Given the description of an element on the screen output the (x, y) to click on. 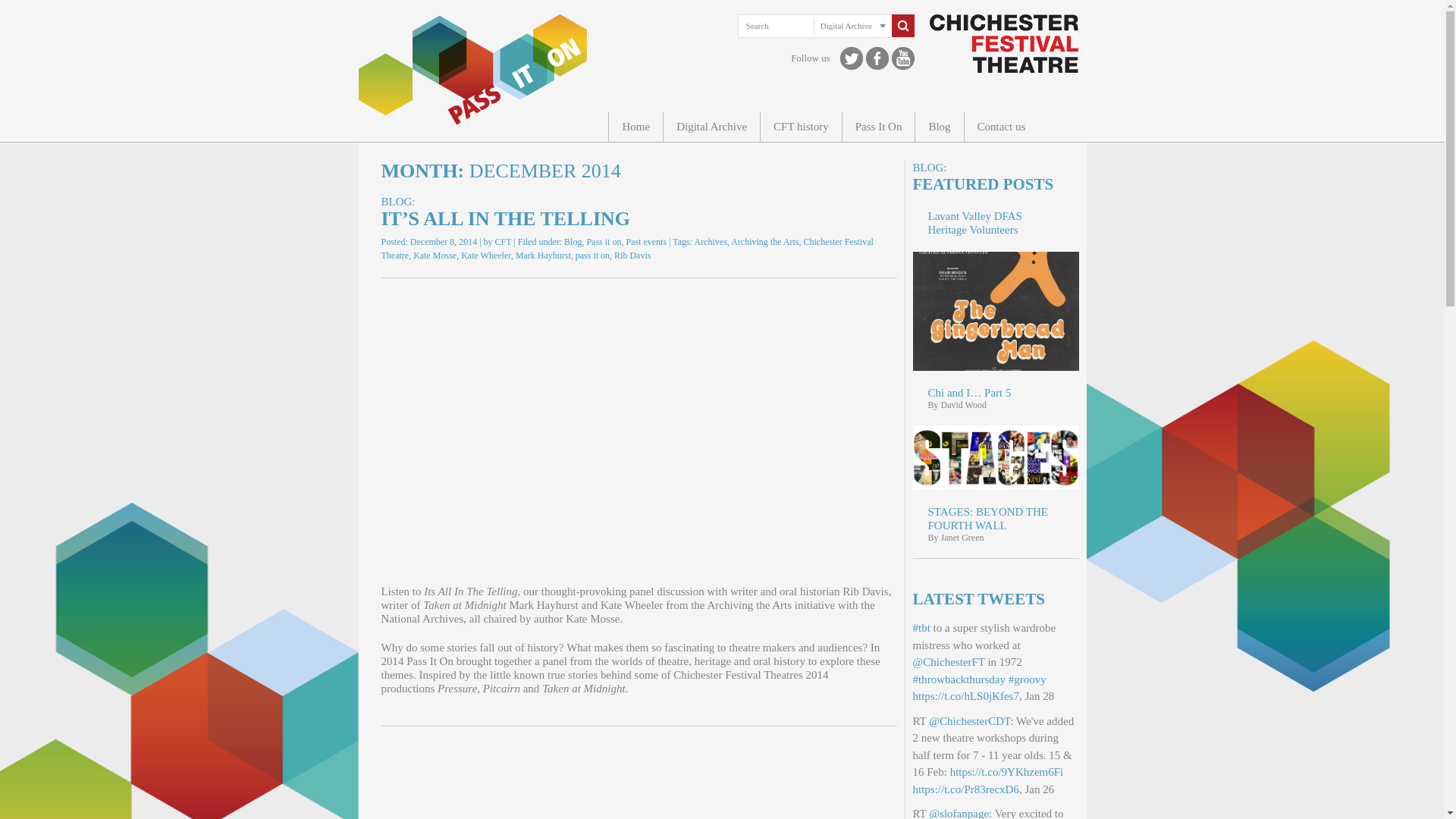
Digital Archive (851, 25)
Search (902, 25)
Pass It On (878, 126)
Digital Archive (711, 126)
Search (775, 26)
CFT history (800, 126)
Home (635, 126)
Search (902, 25)
